Given the description of an element on the screen output the (x, y) to click on. 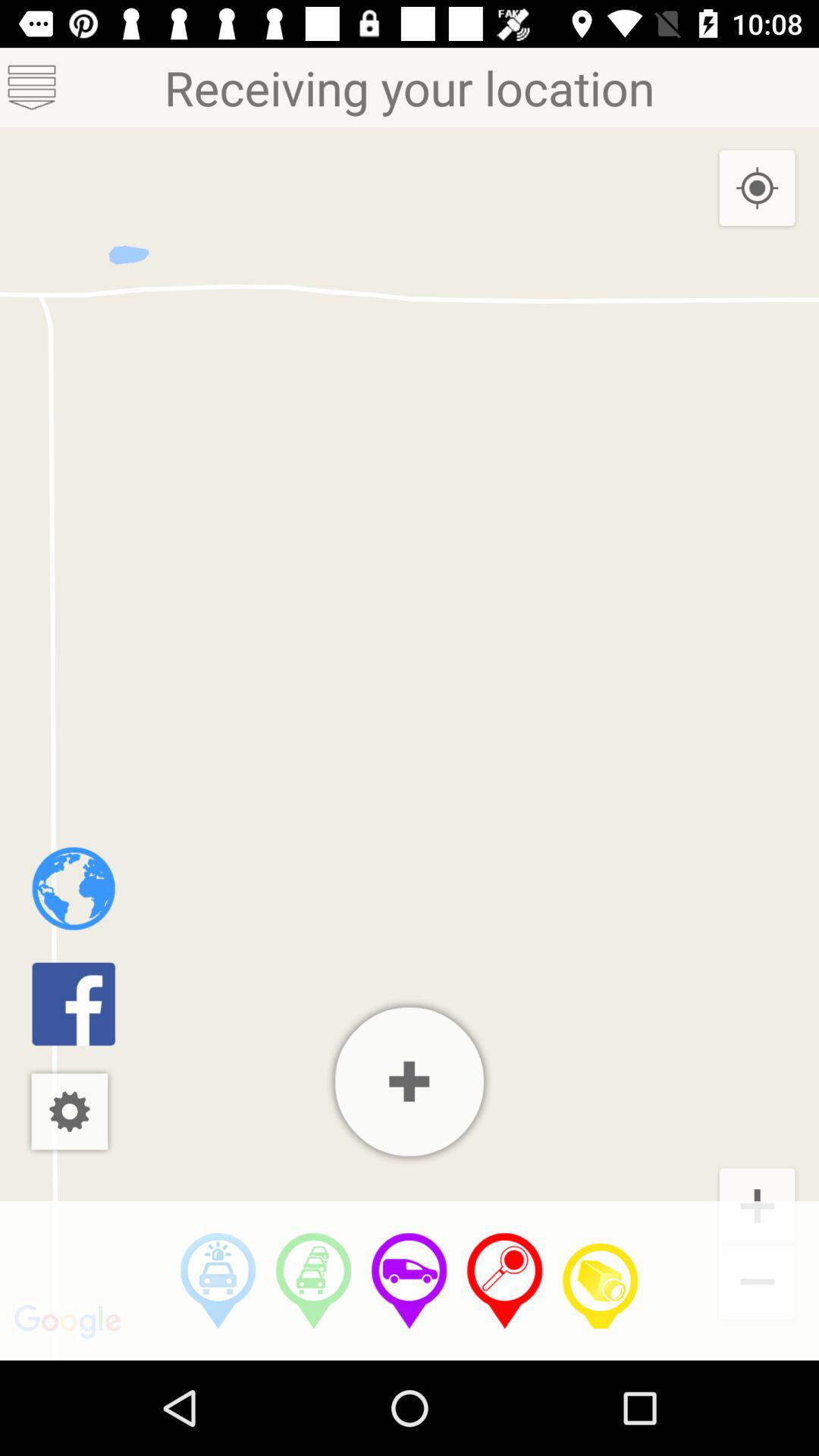
open the item below receiving your location icon (757, 188)
